Given the description of an element on the screen output the (x, y) to click on. 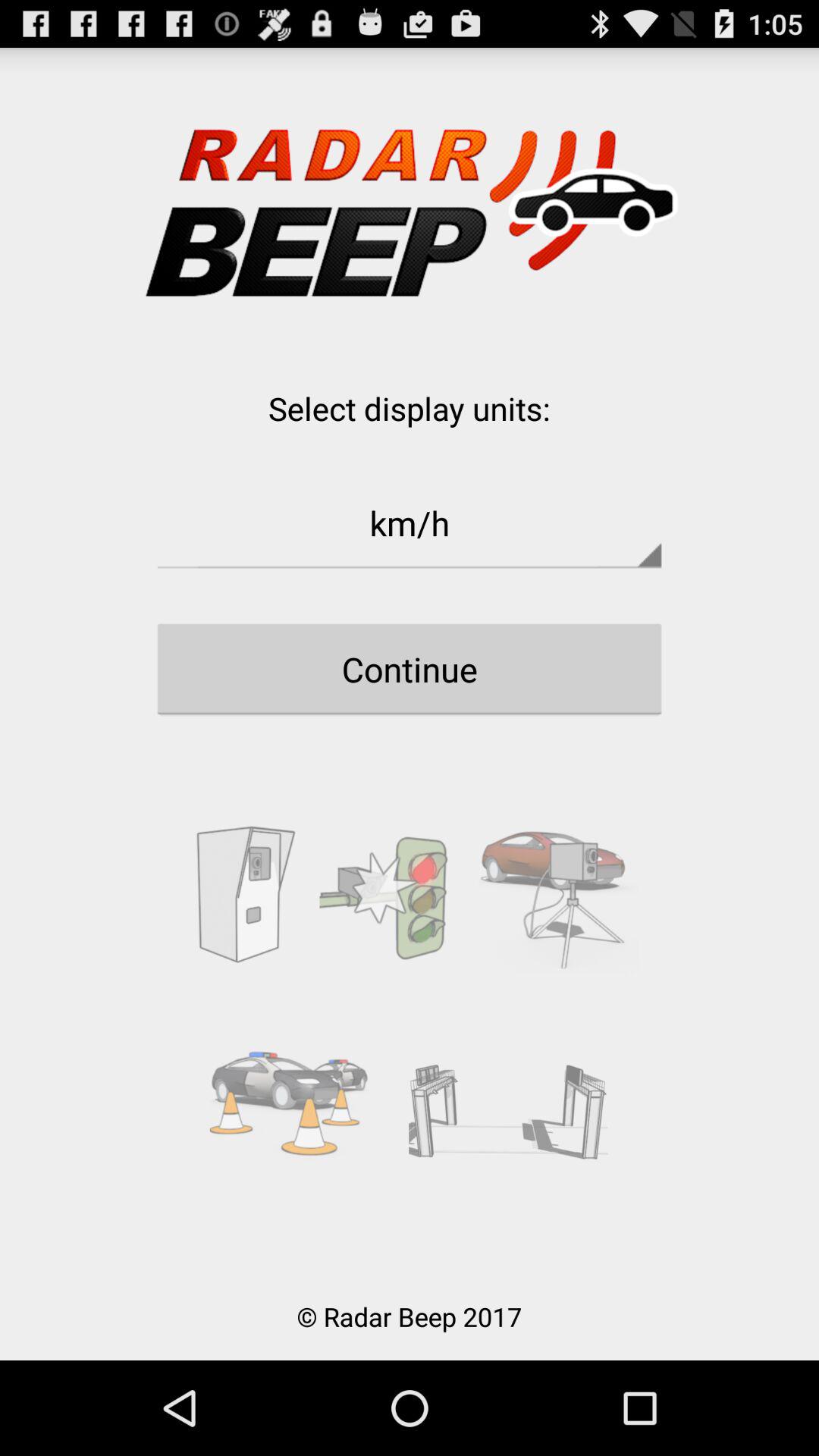
click item above continue (409, 522)
